Given the description of an element on the screen output the (x, y) to click on. 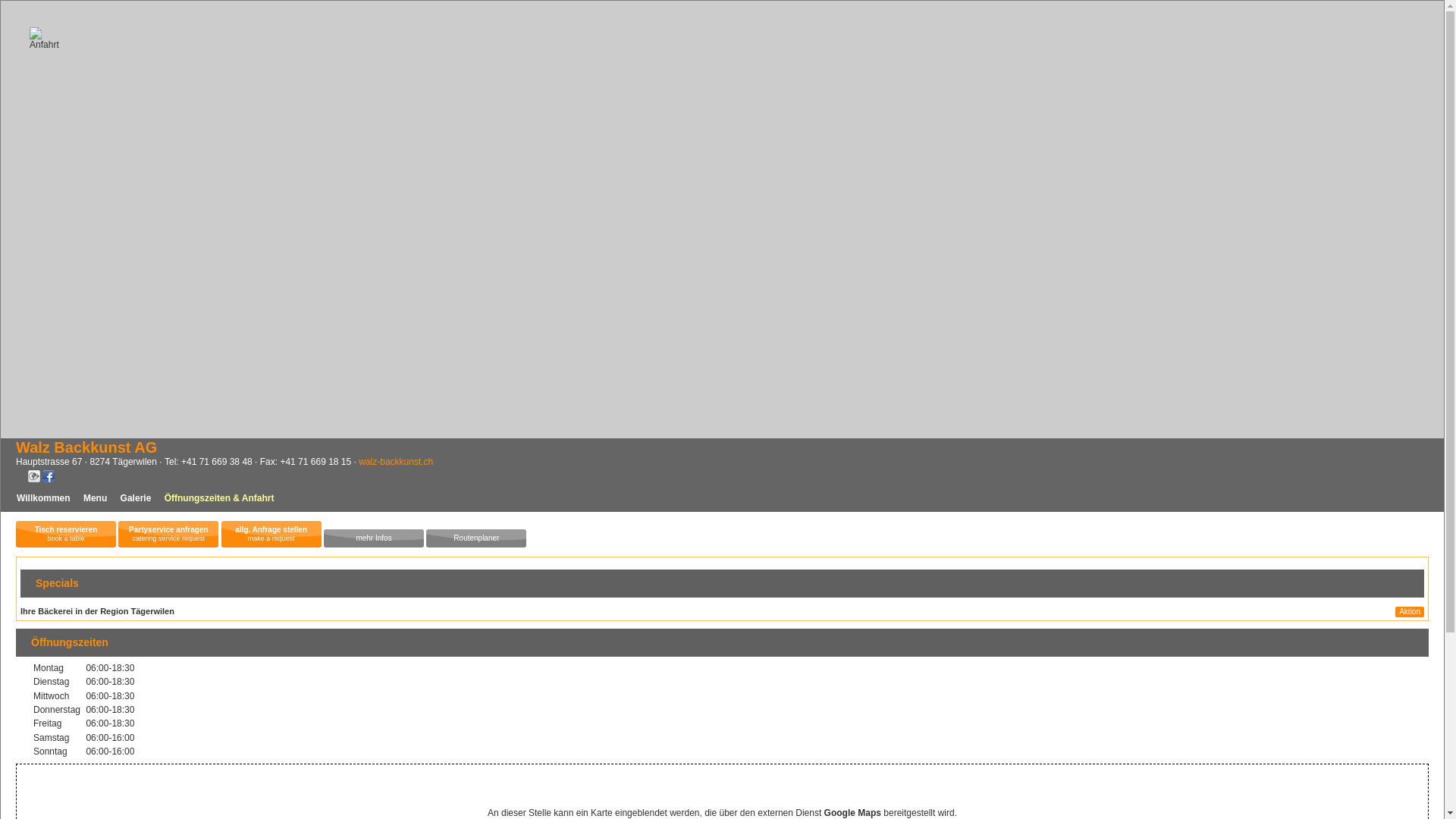
walz-backkunst.ch Element type: text (395, 461)
Routenplaner Element type: text (476, 538)
Walz Backkunst AG auf Facebook Element type: hover (48, 478)
Menu Element type: text (95, 497)
mehr Infos Element type: text (373, 538)
Tisch reservieren
book a table Element type: text (65, 533)
Galerie Element type: text (135, 497)
allg. Anfrage stellen
make a request Element type: text (271, 533)
Willkommen Element type: text (43, 497)
Partyservice anfragen
catering service request Element type: text (168, 533)
Homepage Element type: hover (34, 478)
